Given the description of an element on the screen output the (x, y) to click on. 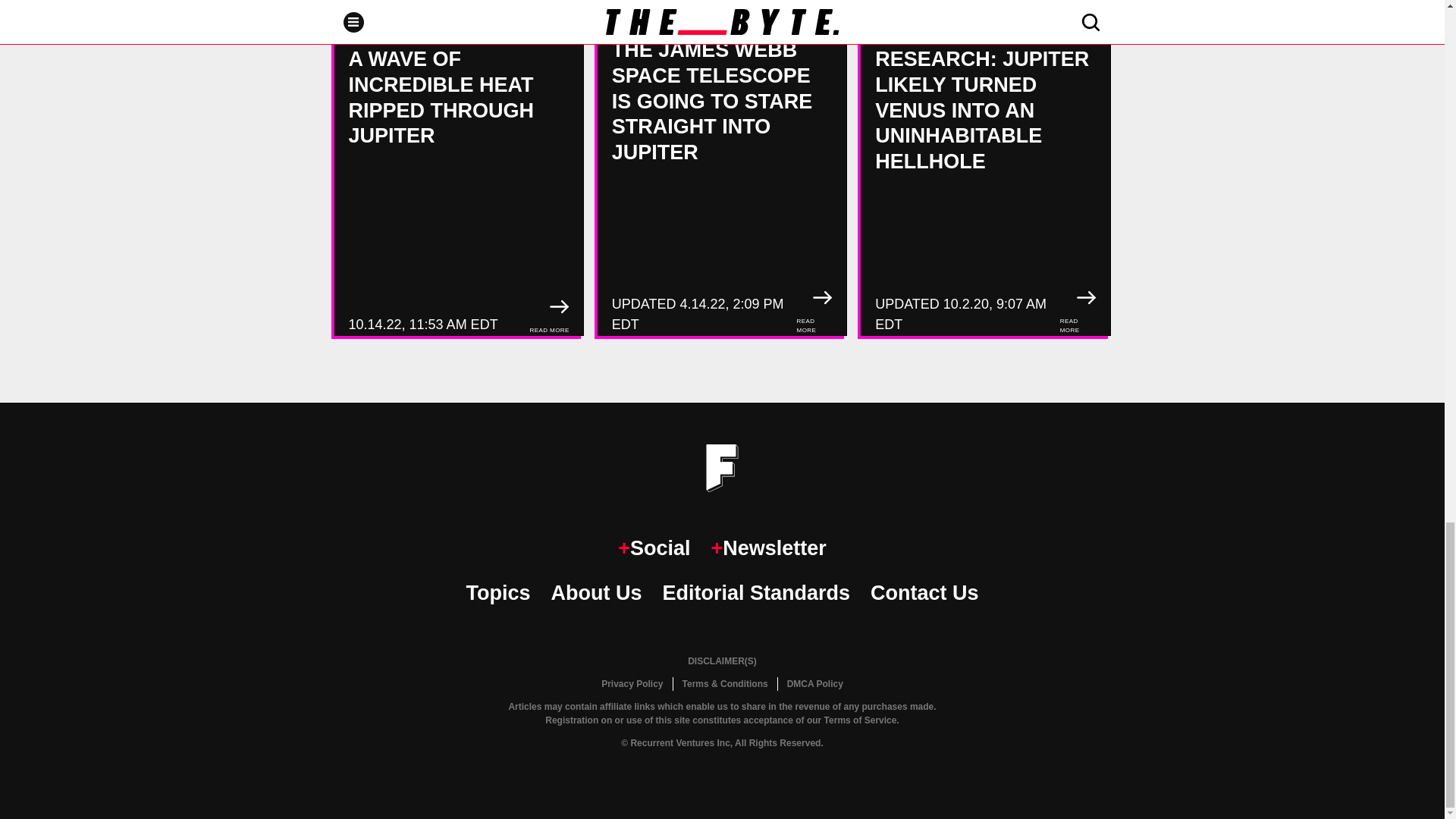
About Us (596, 593)
Contact Us (924, 593)
Topics (497, 593)
Editorial Standards (756, 593)
Privacy Policy (631, 684)
DMCA Policy (814, 684)
